Given the description of an element on the screen output the (x, y) to click on. 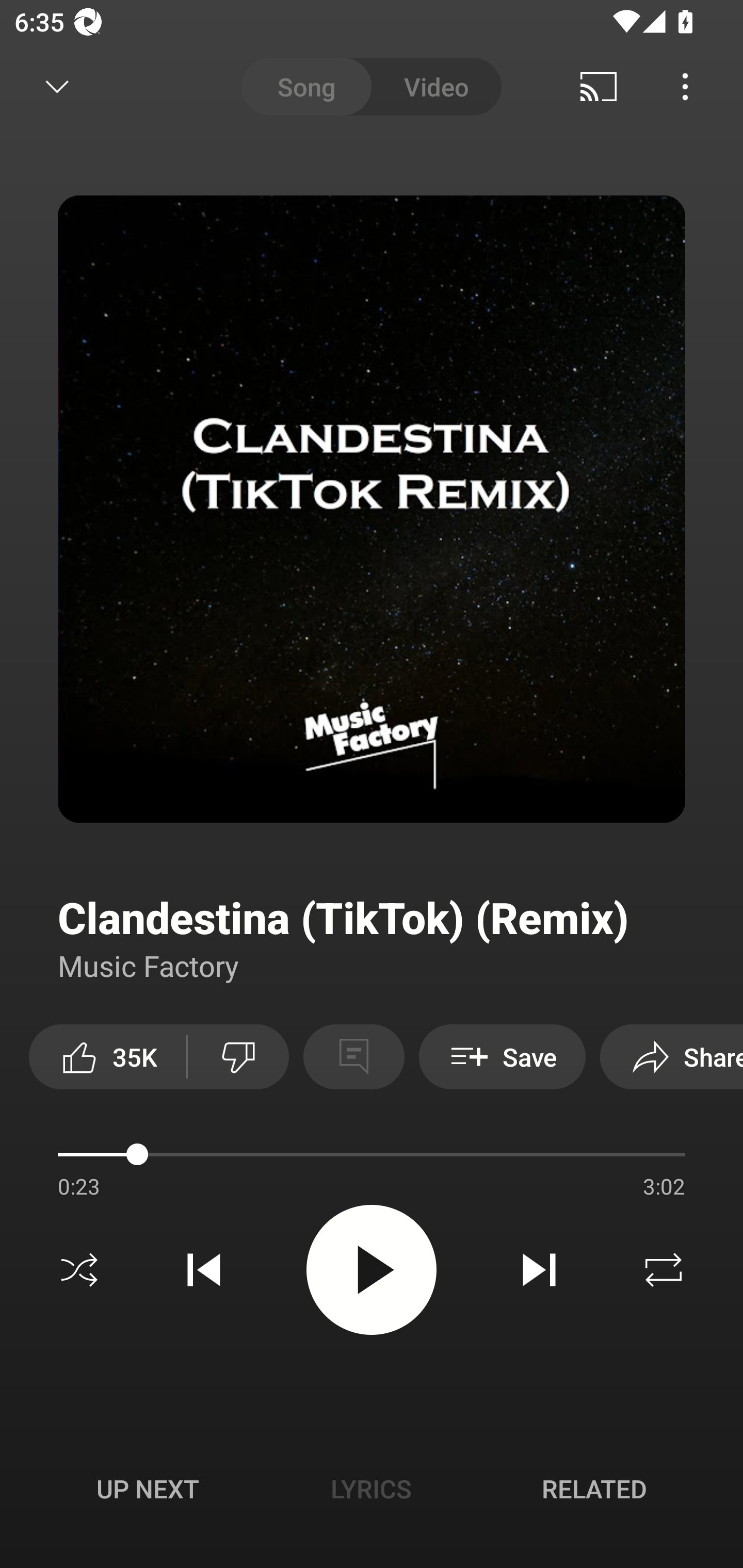
Search back (43, 86)
Cast. Disconnected (598, 86)
Menu (684, 86)
Music Factory (148, 964)
35K like this video along with 35,710 other people (106, 1056)
Dislike (238, 1056)
Comments disabled. (353, 1056)
Save Save to playlist (502, 1056)
Share (671, 1056)
Play video (371, 1269)
Shuffle off (79, 1269)
Previous track (203, 1269)
Next track (538, 1269)
Repeat off (663, 1269)
Up next UP NEXT Lyrics LYRICS Related RELATED (371, 1491)
Lyrics LYRICS (370, 1488)
Related RELATED (594, 1488)
